Given the description of an element on the screen output the (x, y) to click on. 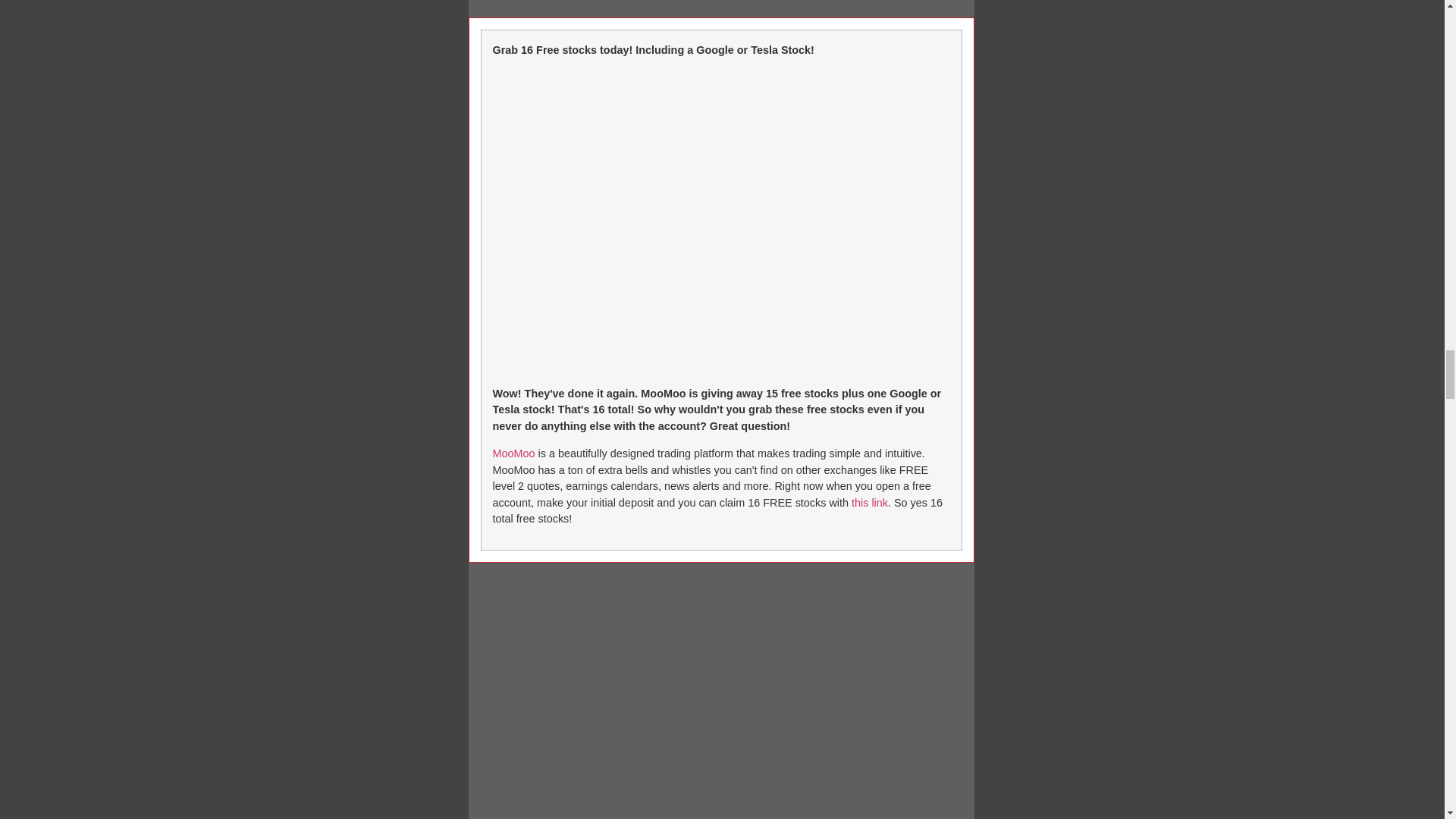
this link (868, 502)
MooMoo (514, 453)
